Given the description of an element on the screen output the (x, y) to click on. 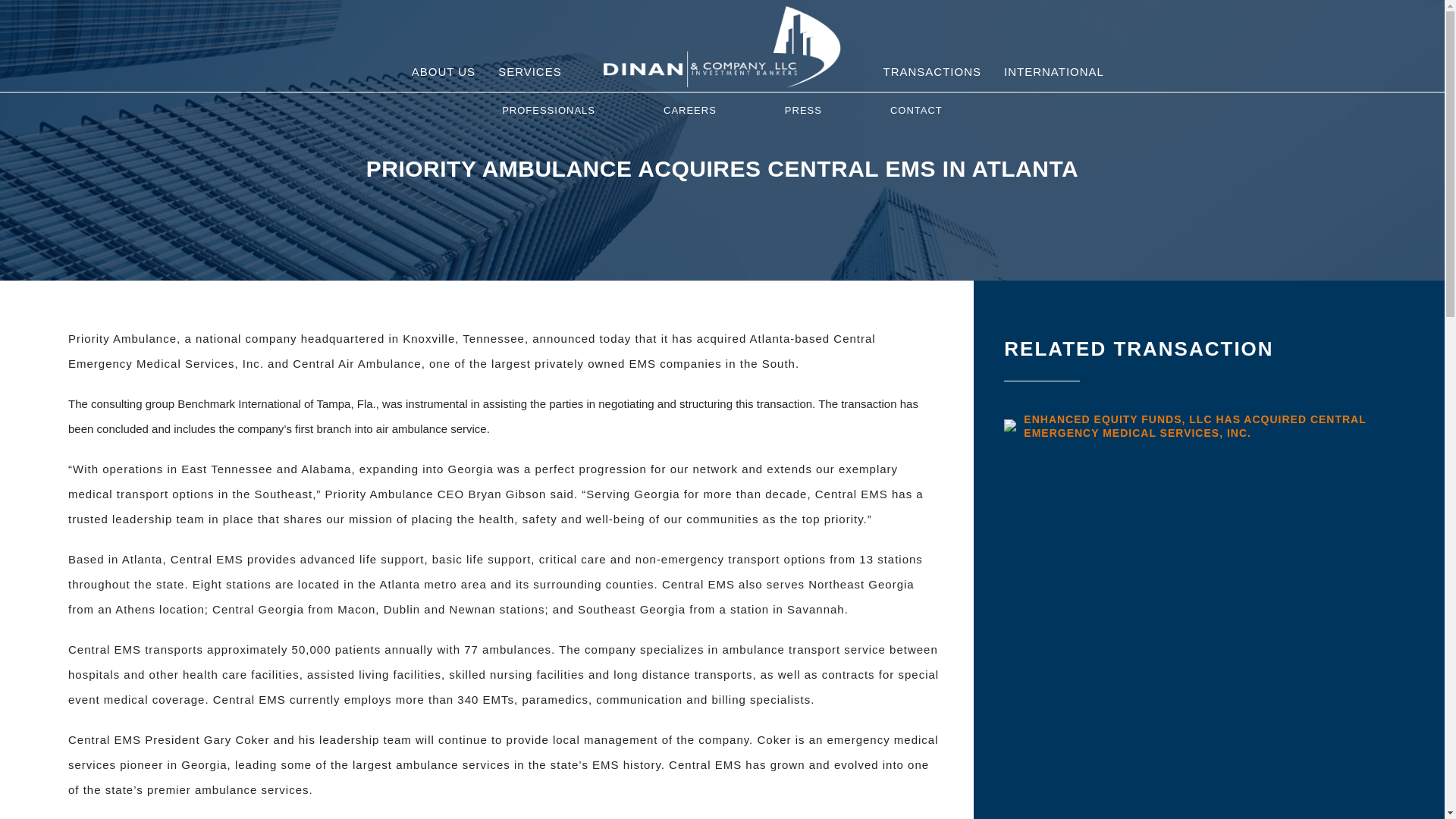
logo-Dinan-Capital (722, 46)
CAREERS (689, 110)
PROFESSIONALS (548, 110)
PRESS (802, 110)
CONTACT (916, 110)
SERVICES (529, 71)
INTERNATIONAL (1053, 71)
TRANSACTIONS (931, 71)
ABOUT US (443, 71)
